Given the description of an element on the screen output the (x, y) to click on. 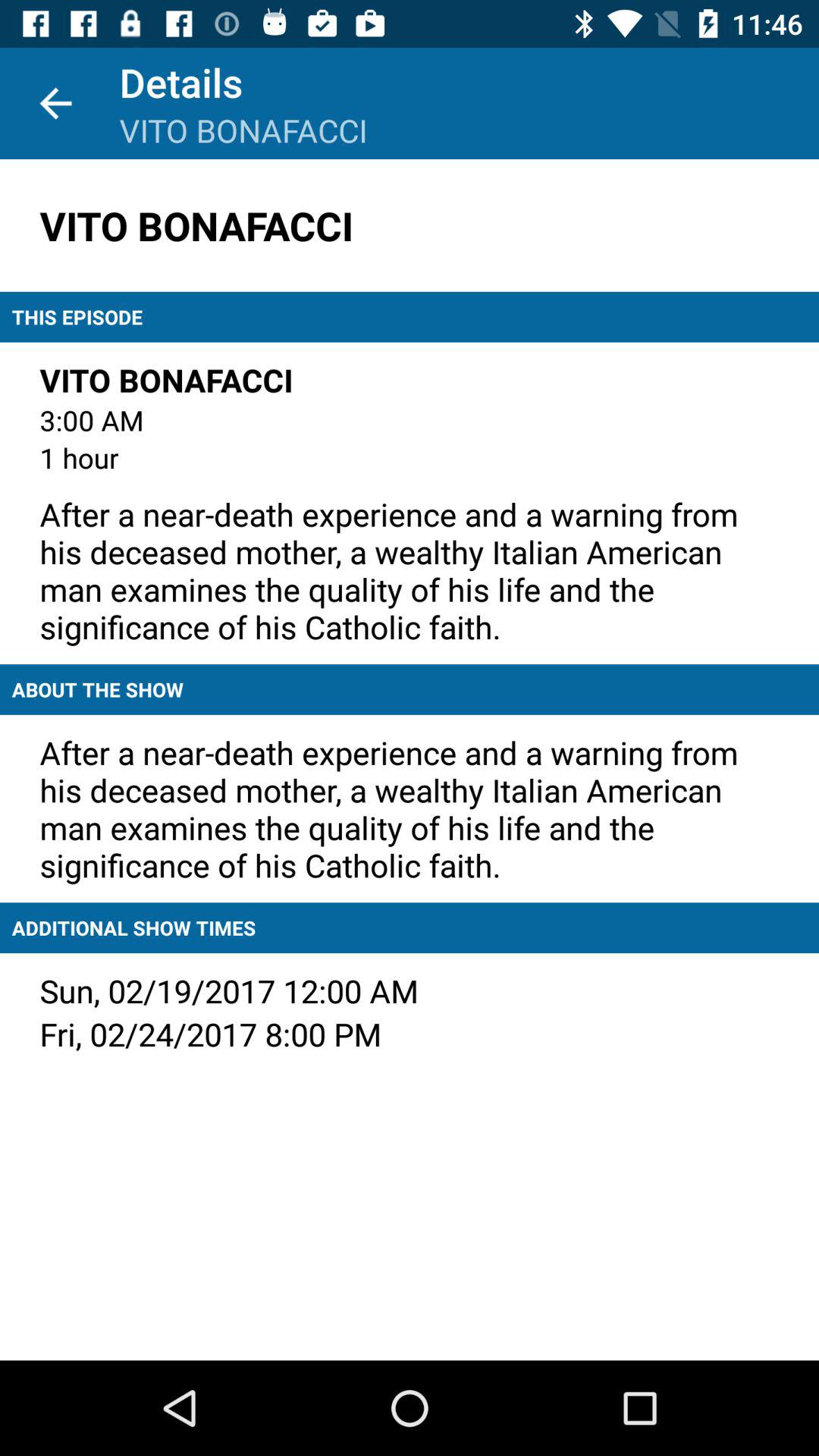
select the item above vito bonafacci item (55, 103)
